Given the description of an element on the screen output the (x, y) to click on. 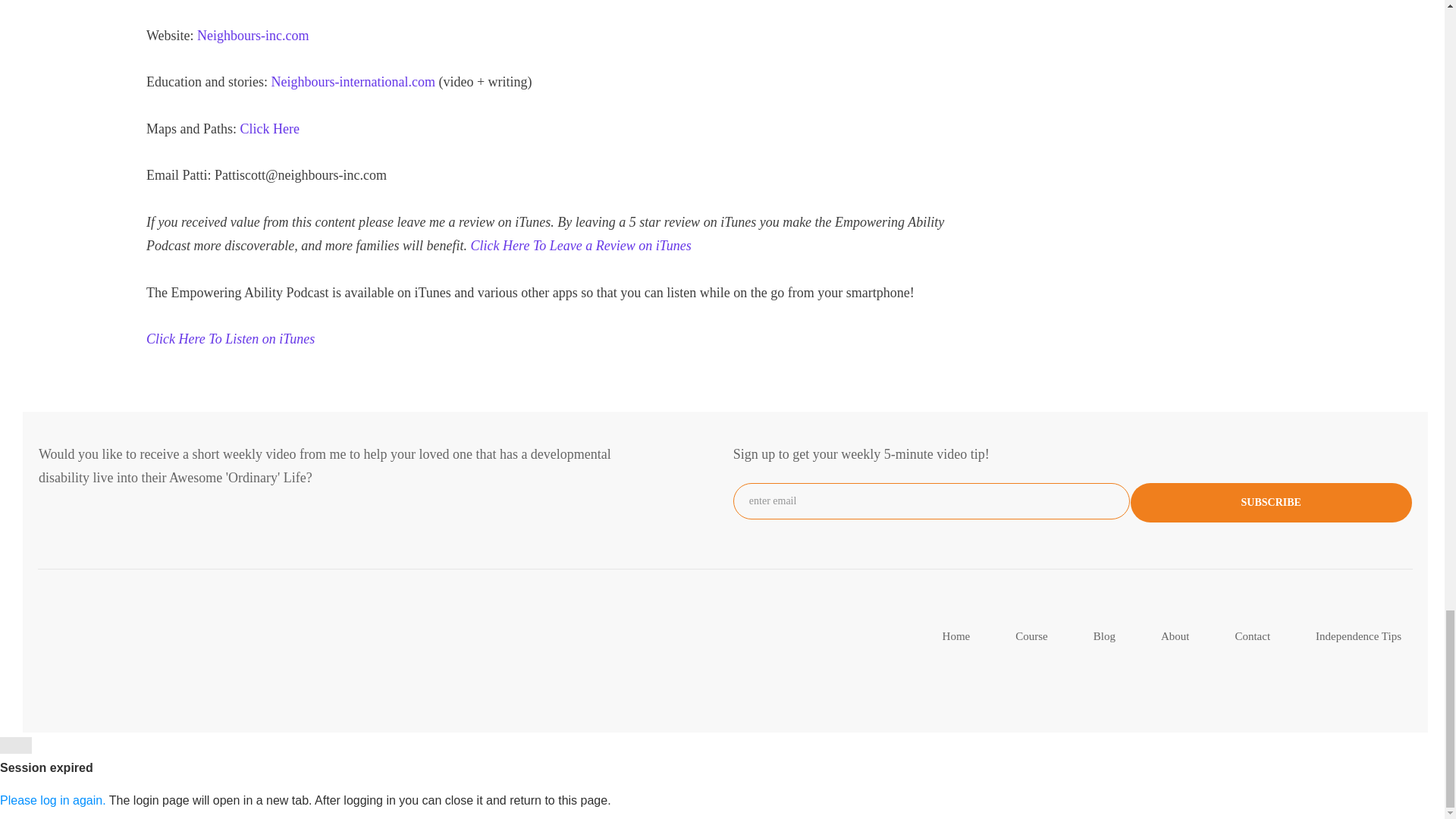
Neighbours-inc.com (252, 35)
Click Here To Listen on iTunes (230, 338)
Click Here (269, 128)
Neighbours-international.com (354, 81)
Click Here To Leave a Review on iTunes (580, 245)
